Given the description of an element on the screen output the (x, y) to click on. 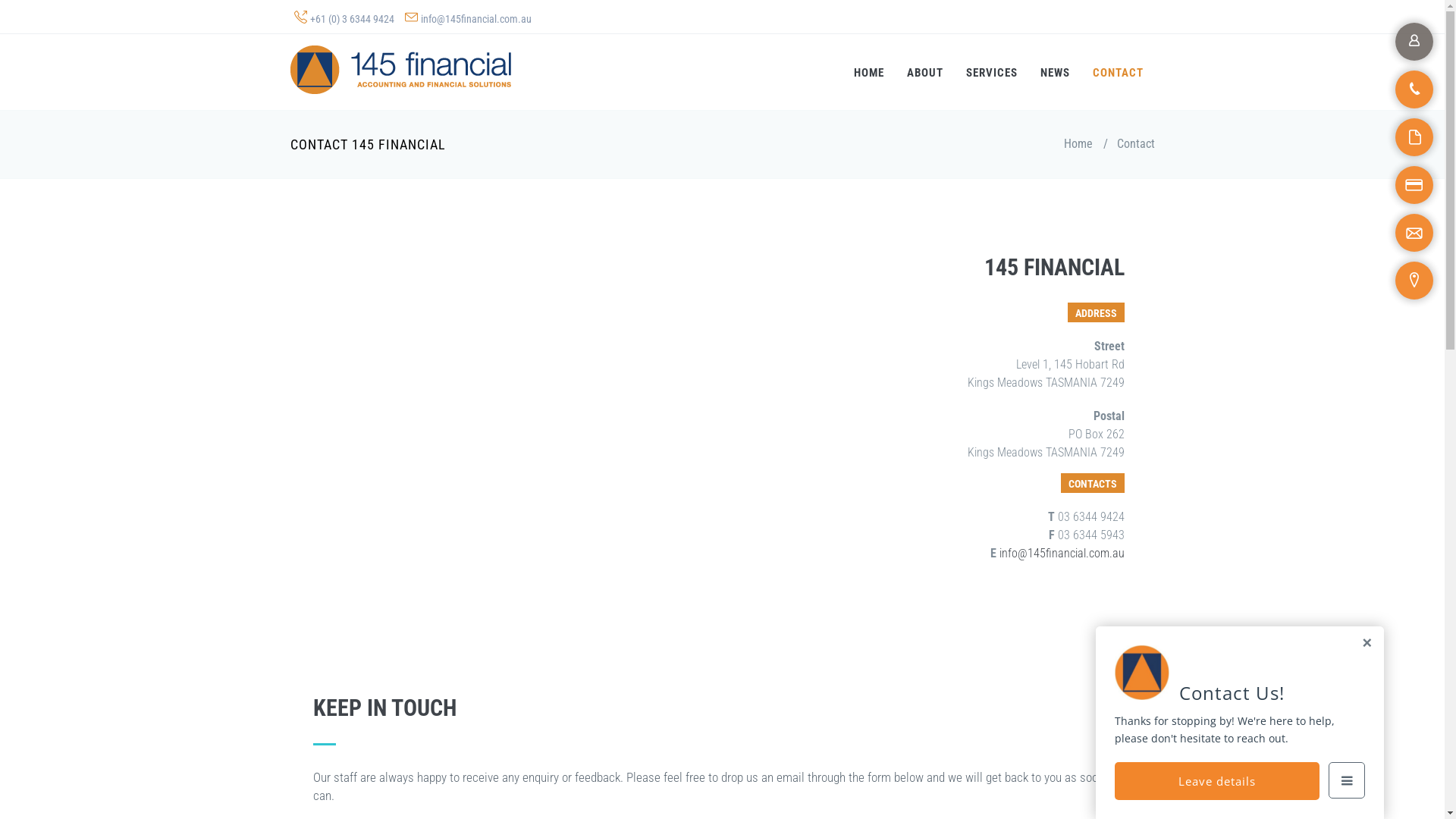
ABOUT Element type: text (923, 71)
CONTACT Element type: text (1117, 71)
HOME Element type: text (867, 71)
SERVICES Element type: text (990, 71)
Home Element type: text (1077, 143)
info@145financial.com.au Element type: text (475, 18)
Leave details Element type: text (1216, 781)
info@145financial.com.au Element type: text (1061, 553)
NEWS Element type: text (1054, 71)
+61 (0) 3 6344 9424 Element type: text (351, 18)
